Given the description of an element on the screen output the (x, y) to click on. 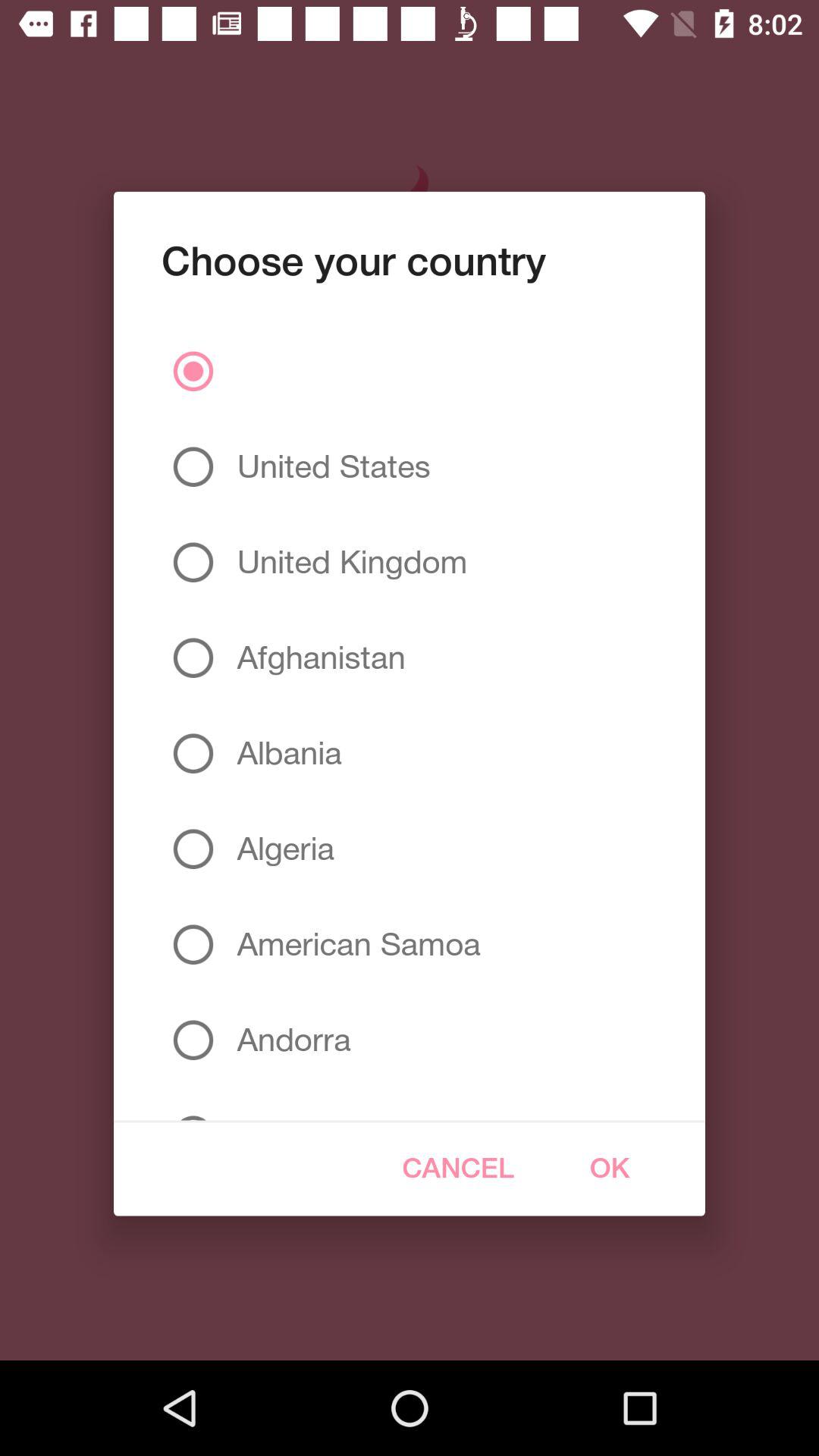
launch the united kingdom item (346, 562)
